Given the description of an element on the screen output the (x, y) to click on. 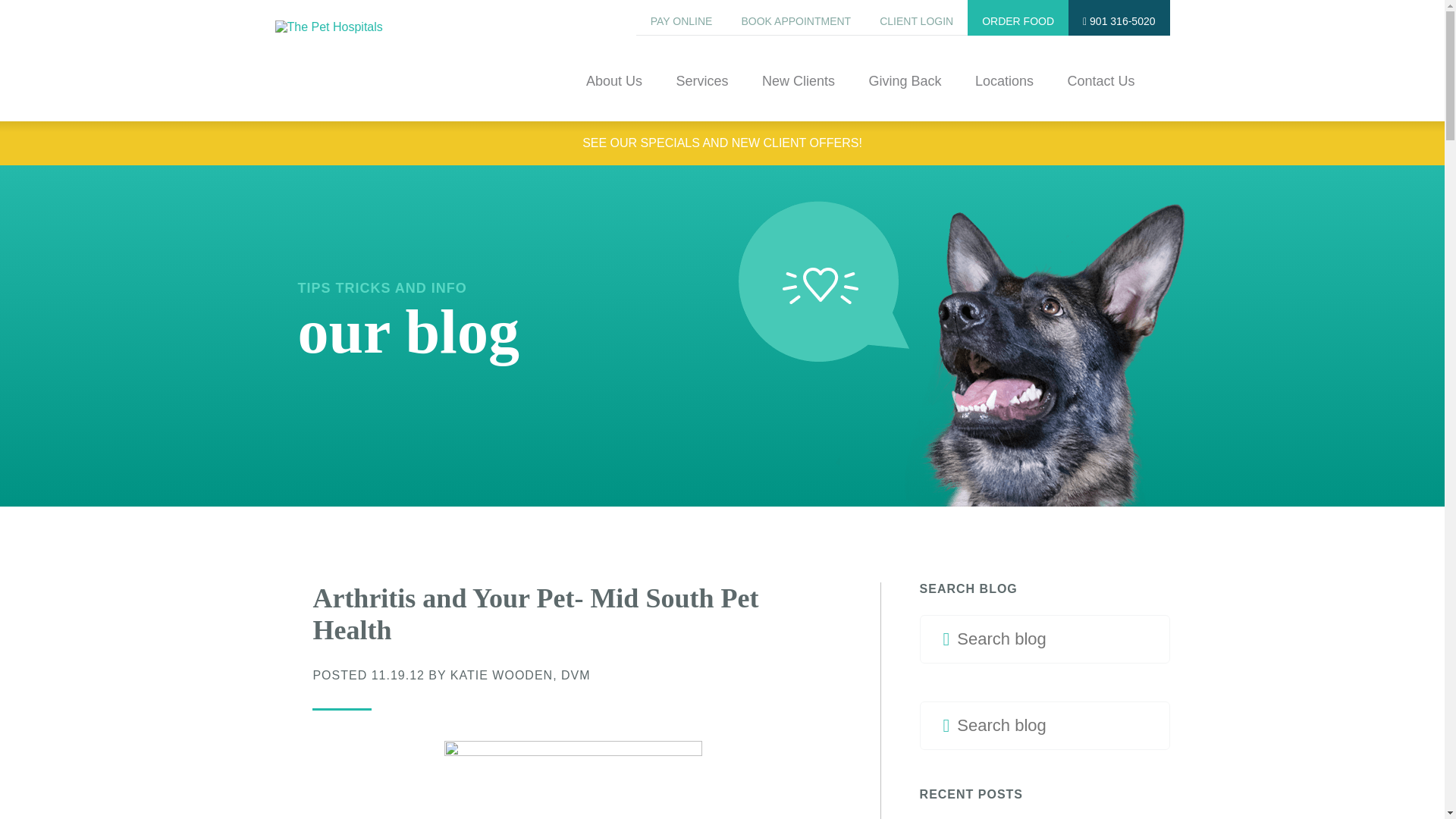
Pay Online (681, 17)
ORDER FOOD (1018, 17)
901 316-5020 (1118, 17)
Giving Back (903, 97)
BOOK APPOINTMENT (795, 17)
Services (701, 97)
About Us (614, 97)
laser (572, 780)
New Clients (797, 97)
Locations (1004, 97)
